Given the description of an element on the screen output the (x, y) to click on. 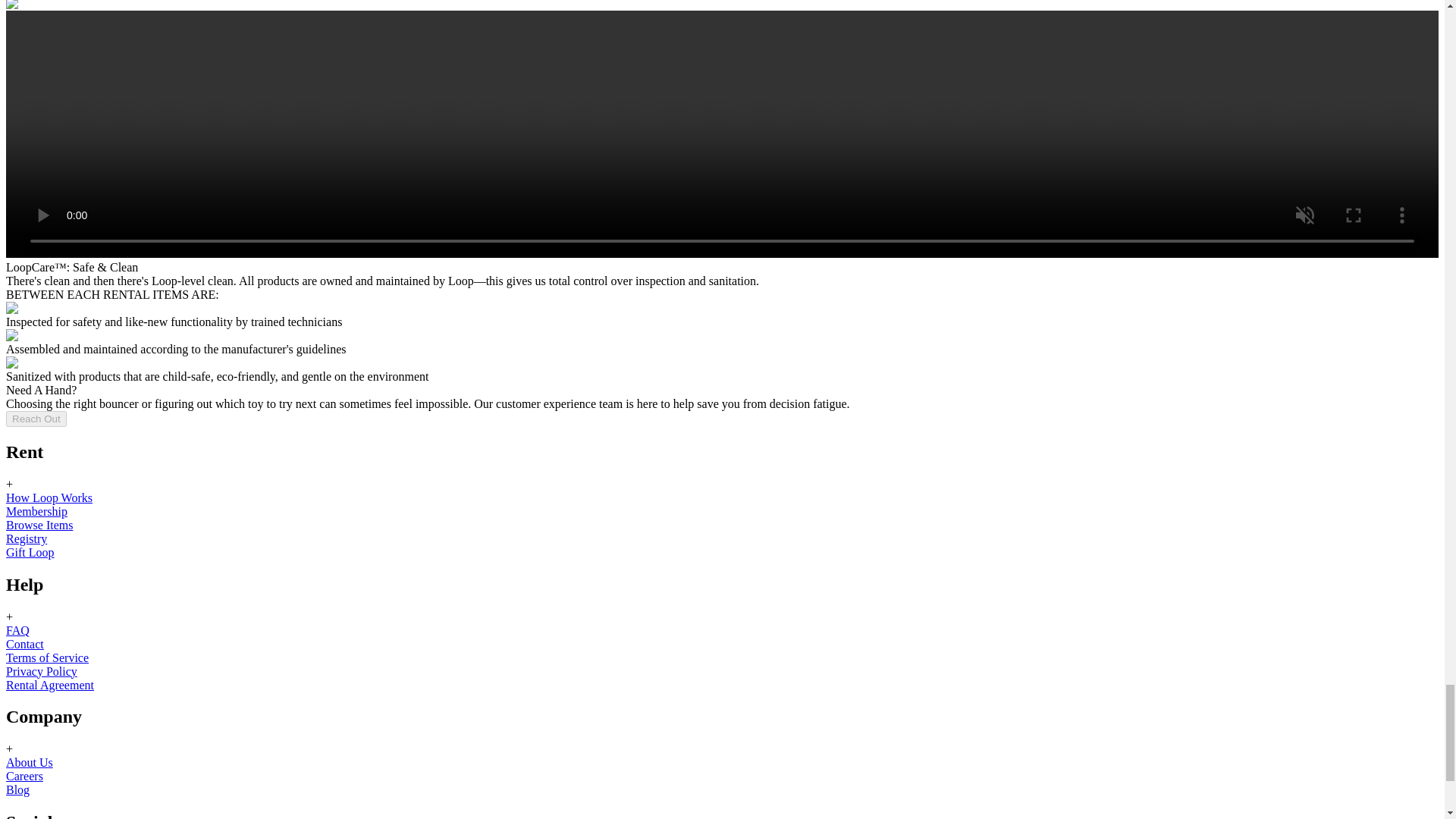
Contact (24, 643)
About Us (28, 762)
Membership (35, 511)
FAQ (17, 629)
Privacy Policy (41, 670)
Careers (24, 775)
Blog (17, 789)
Reach Out (35, 418)
Browse Items (38, 524)
How Loop Works (49, 497)
Terms of Service (46, 656)
Registry (25, 538)
Gift Loop (30, 552)
Rental Agreement (49, 684)
